Given the description of an element on the screen output the (x, y) to click on. 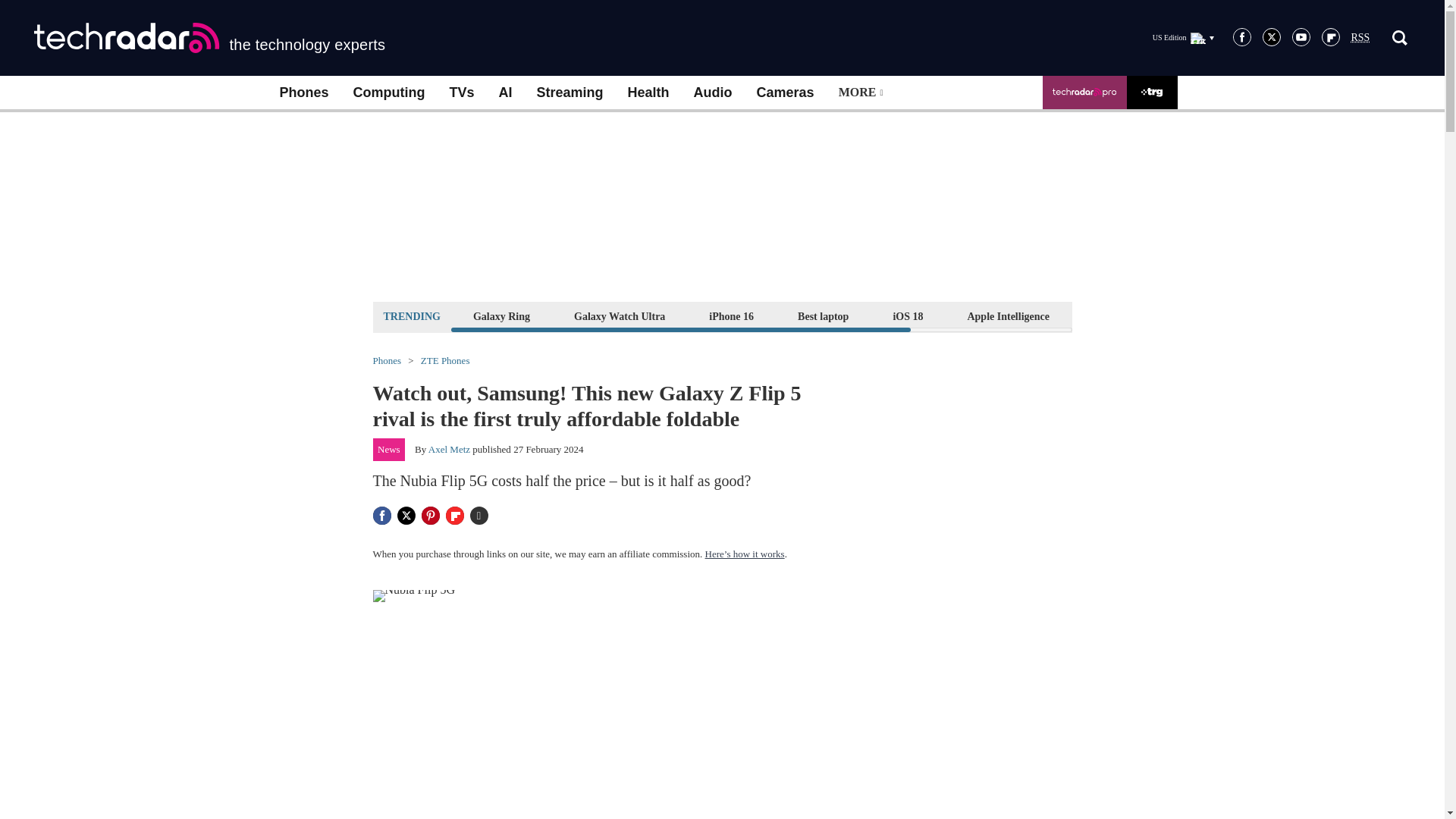
Phones (303, 92)
Computing (389, 92)
Really Simple Syndication (1360, 37)
Audio (712, 92)
Cameras (785, 92)
Health (648, 92)
TVs (461, 92)
Streaming (569, 92)
AI (505, 92)
the technology experts (209, 38)
US Edition (1182, 37)
